Given the description of an element on the screen output the (x, y) to click on. 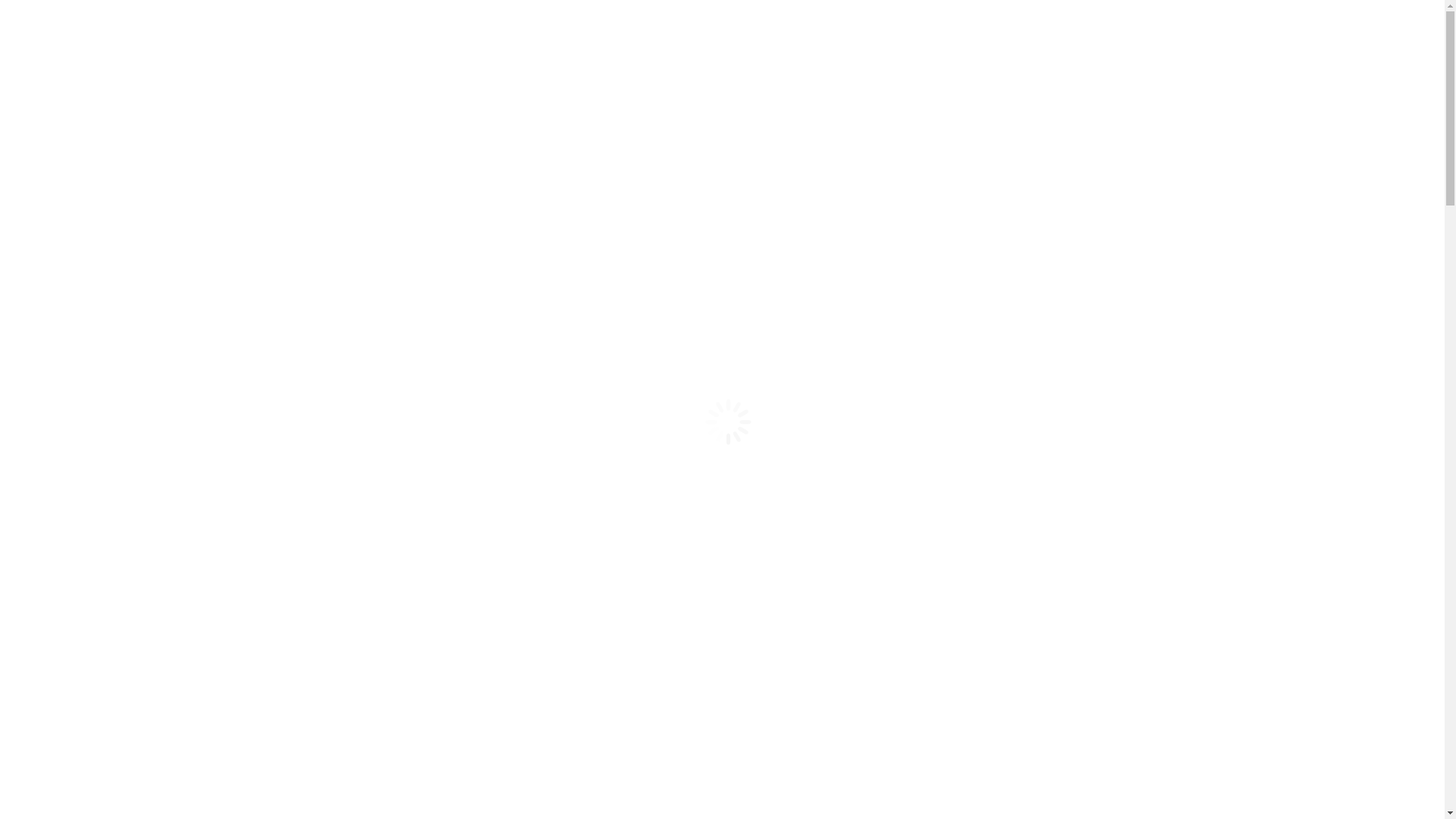
Articles Element type: text (55, 731)
Testimonials Element type: text (97, 622)
Contact Us Element type: text (55, 150)
Newsletter Guide Element type: text (108, 608)
Sign in to Newsletter Element type: text (162, 151)
Contact Us Element type: text (48, 108)
Free Trial Element type: text (29, 215)
Subscribe Element type: text (353, 150)
Subscribe Element type: text (249, 255)
FAQ Element type: text (78, 663)
Articles Element type: text (55, 432)
Go to Funds Management Element type: text (129, 555)
Our Team Element type: text (90, 351)
Marcus Today Element type: text (70, 581)
Testimonials Element type: text (97, 323)
Free Trial Element type: text (415, 150)
eBooks Element type: text (84, 528)
My Account Element type: text (153, 249)
Skip to content Element type: text (5, 11)
Meet Marcus Padley Element type: text (116, 636)
Education Element type: text (60, 799)
Education Element type: text (60, 501)
Marcus Today Podcasts Element type: text (123, 759)
My Account Element type: text (258, 144)
Guest Appearances Element type: text (113, 487)
On the Couch Element type: text (100, 473)
About Us Element type: text (59, 595)
Media Element type: text (81, 378)
Sign in to Newsletter Element type: text (58, 256)
Guest Appearances Element type: text (113, 786)
Podcasts Element type: text (57, 745)
Marcus Today Podcasts Element type: text (123, 460)
FAQ Element type: text (78, 364)
Podcasts Element type: text (57, 446)
Funds Management Element type: text (84, 542)
Meet Marcus Padley Element type: text (116, 337)
On the Couch Element type: text (100, 772)
Our Team Element type: text (90, 649)
Marcus Today Element type: text (70, 282)
Marcus Today on Livewire Element type: text (162, 405)
Newsletter Guide Element type: text (108, 310)
Contact Us Element type: text (58, 189)
Media Element type: text (81, 677)
About Us Element type: text (59, 296)
Marcus Today on Livewire Element type: text (162, 704)
In the Media Element type: text (128, 391)
In the Media Element type: text (128, 690)
